Given the description of an element on the screen output the (x, y) to click on. 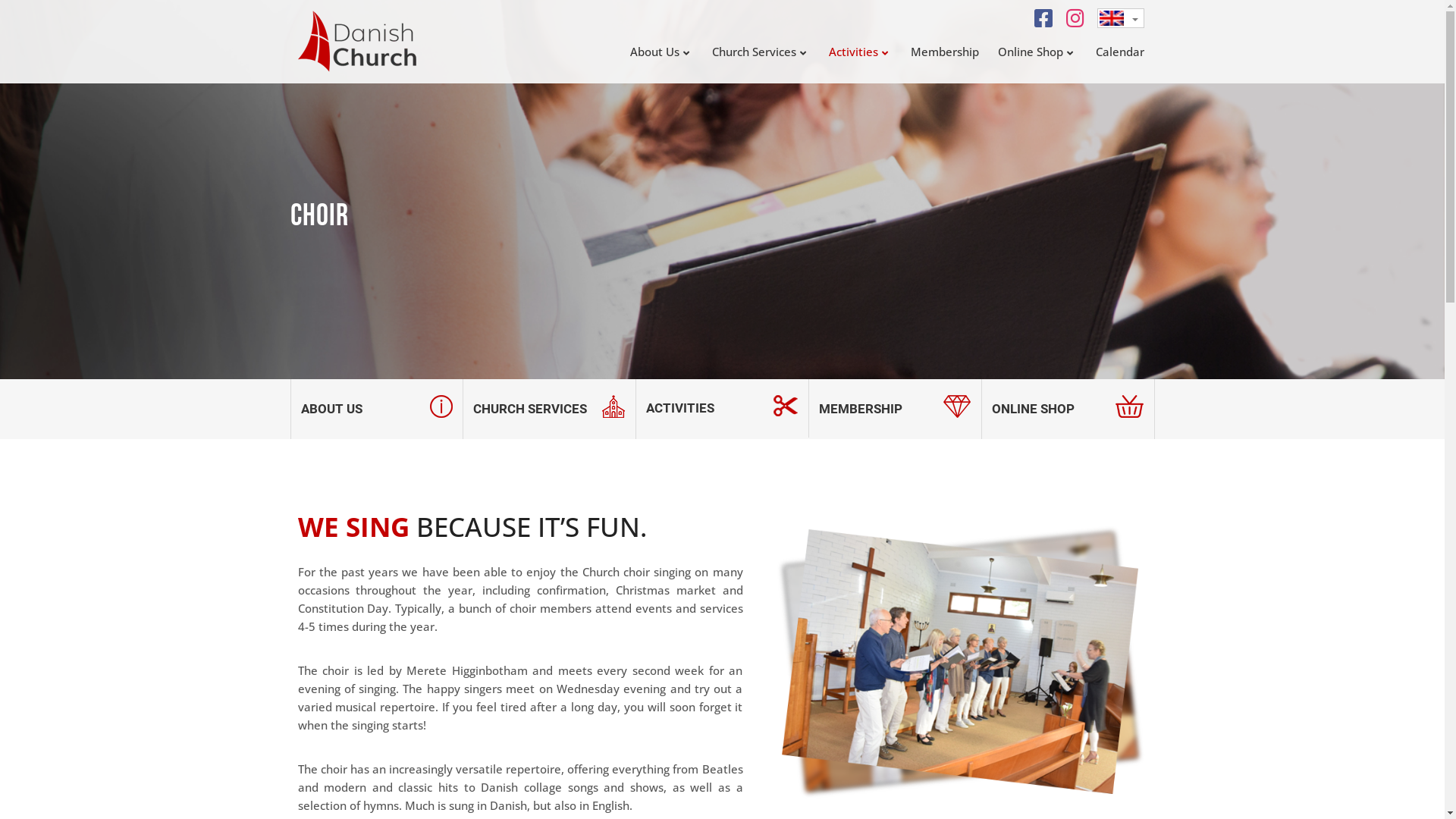
CHURCH SERVICES Element type: text (549, 408)
MEMBERSHIP Element type: text (895, 408)
Church Services Element type: text (770, 51)
Activities Element type: text (869, 51)
ACTIVITIES Element type: text (722, 407)
ABOUT US Element type: text (375, 408)
ONLINE SHOP Element type: text (1067, 408)
Online Shop Element type: text (1046, 51)
Calendar Element type: text (1119, 51)
About Us Element type: text (671, 51)
Membership Element type: text (953, 51)
